Given the description of an element on the screen output the (x, y) to click on. 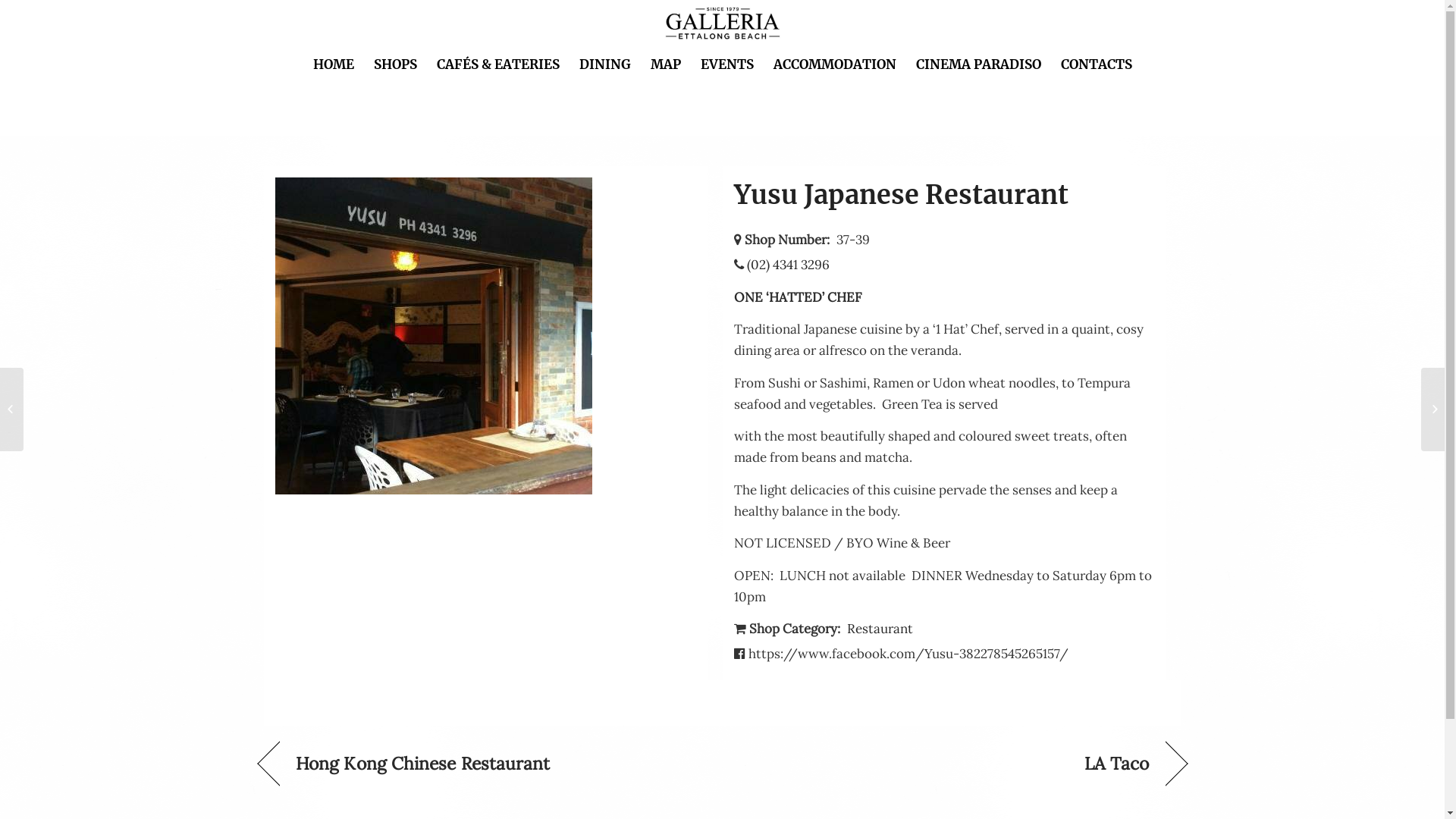
Yusu Japanese Restaurant Element type: text (901, 194)
HOME Element type: text (333, 64)
ACCOMMODATION Element type: text (833, 64)
SHOPS Element type: text (395, 64)
EVENTS Element type: text (726, 64)
CONTACTS Element type: text (1096, 64)
MAP Element type: text (665, 64)
CINEMA PARADISO Element type: text (977, 64)
Restaurant Element type: text (879, 628)
(02) 4341 3296 Element type: text (787, 264)
DINING Element type: text (604, 64)
